Given the description of an element on the screen output the (x, y) to click on. 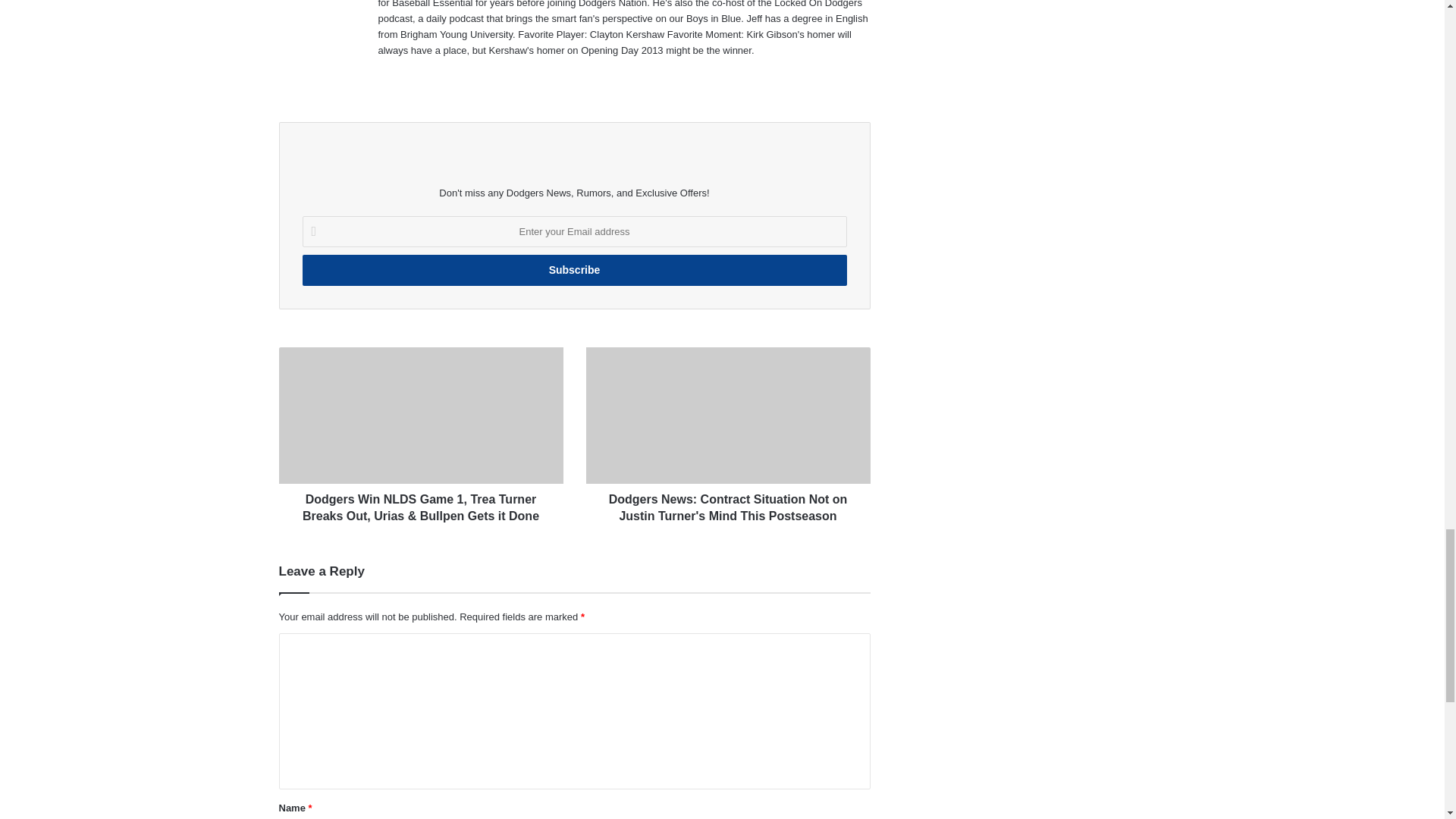
Subscribe (573, 269)
